Given the description of an element on the screen output the (x, y) to click on. 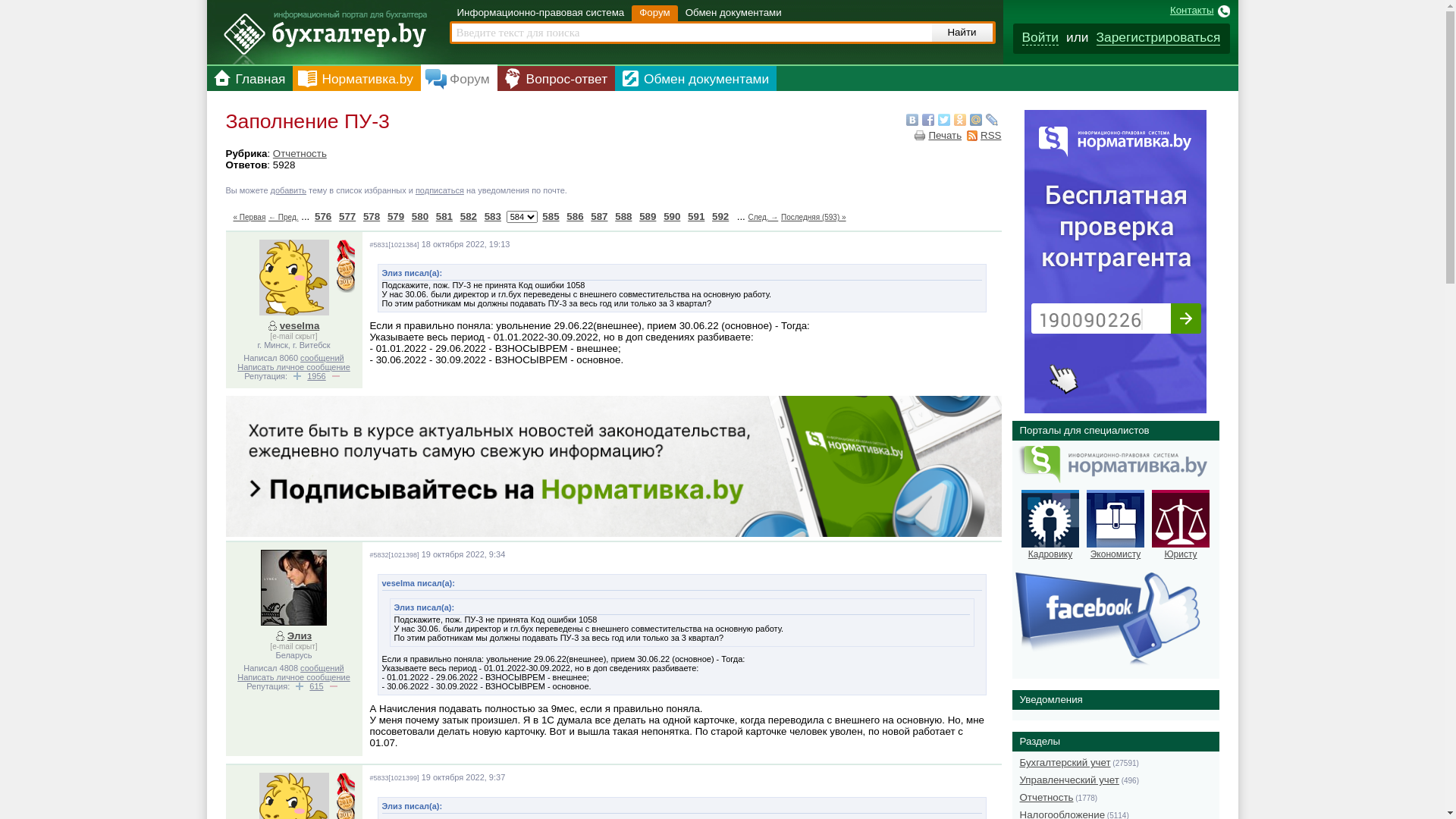
#5832[1021398] Element type: text (394, 554)
579 Element type: text (395, 216)
592 Element type: text (720, 216)
591 Element type: text (695, 216)
581 Element type: text (444, 216)
#5833[1021399] Element type: text (394, 777)
576 Element type: text (322, 216)
585 Element type: text (550, 216)
577 Element type: text (346, 216)
580 Element type: text (419, 216)
Facebook Element type: hover (928, 119)
587 Element type: text (598, 216)
582 Element type: text (468, 216)
LiveJournal Element type: hover (992, 119)
588 Element type: text (622, 216)
590 Element type: text (671, 216)
583 Element type: text (492, 216)
veselma Element type: text (295, 325)
Twitter Element type: hover (943, 119)
1956 Element type: text (316, 375)
#5831[1021384] Element type: text (394, 244)
RSS Element type: text (983, 135)
589 Element type: text (647, 216)
586 Element type: text (574, 216)
578 Element type: text (371, 216)
615 Element type: text (316, 685)
